Given the description of an element on the screen output the (x, y) to click on. 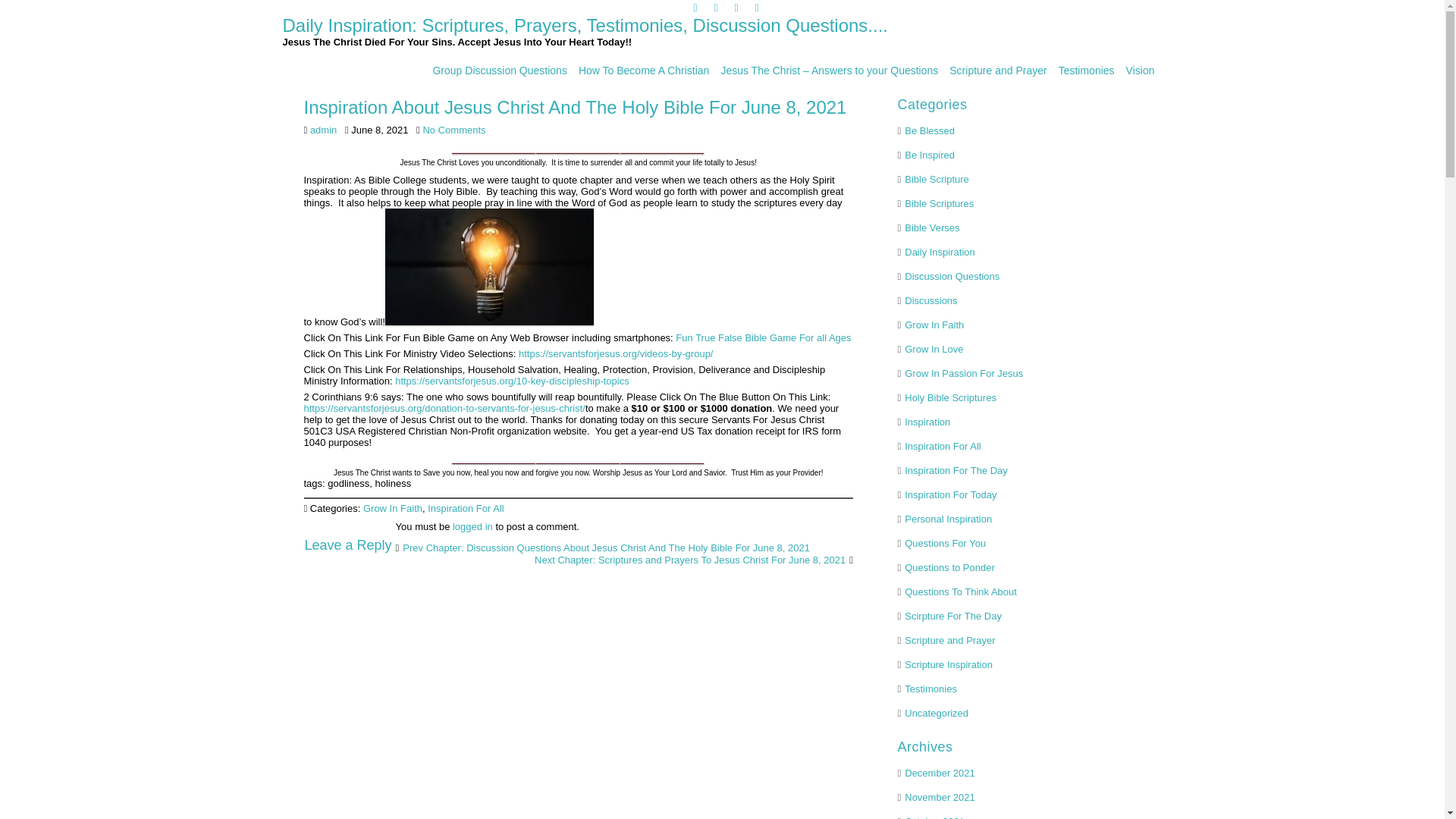
Be Inspired (929, 154)
Group Discussion Questions (499, 70)
Testimonies (1086, 70)
Grow In Faith (392, 508)
Posts by admin (323, 129)
How To Become A Christian (644, 70)
Inspiration (927, 421)
Inspiration For Today (949, 494)
No Comments (453, 129)
